Given the description of an element on the screen output the (x, y) to click on. 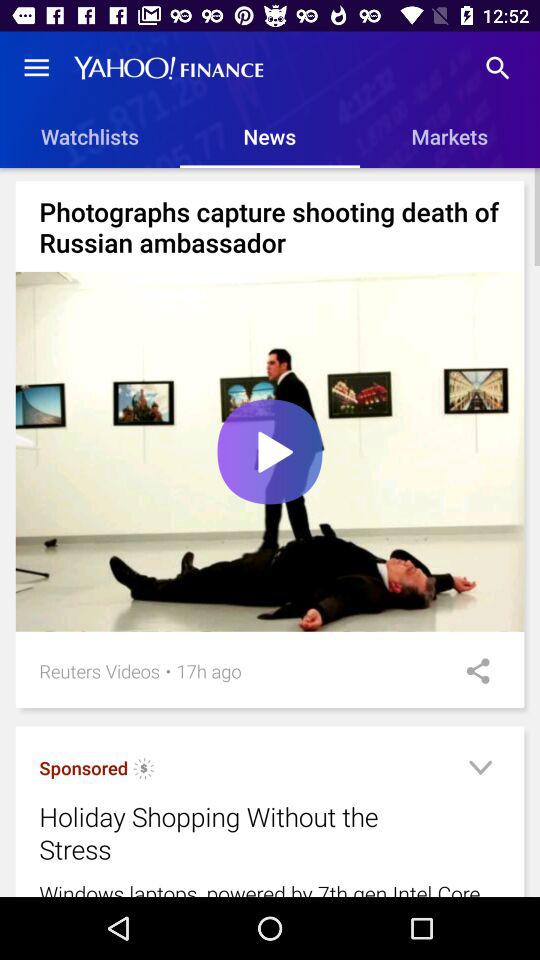
turn on icon above the holiday shopping without item (143, 771)
